Given the description of an element on the screen output the (x, y) to click on. 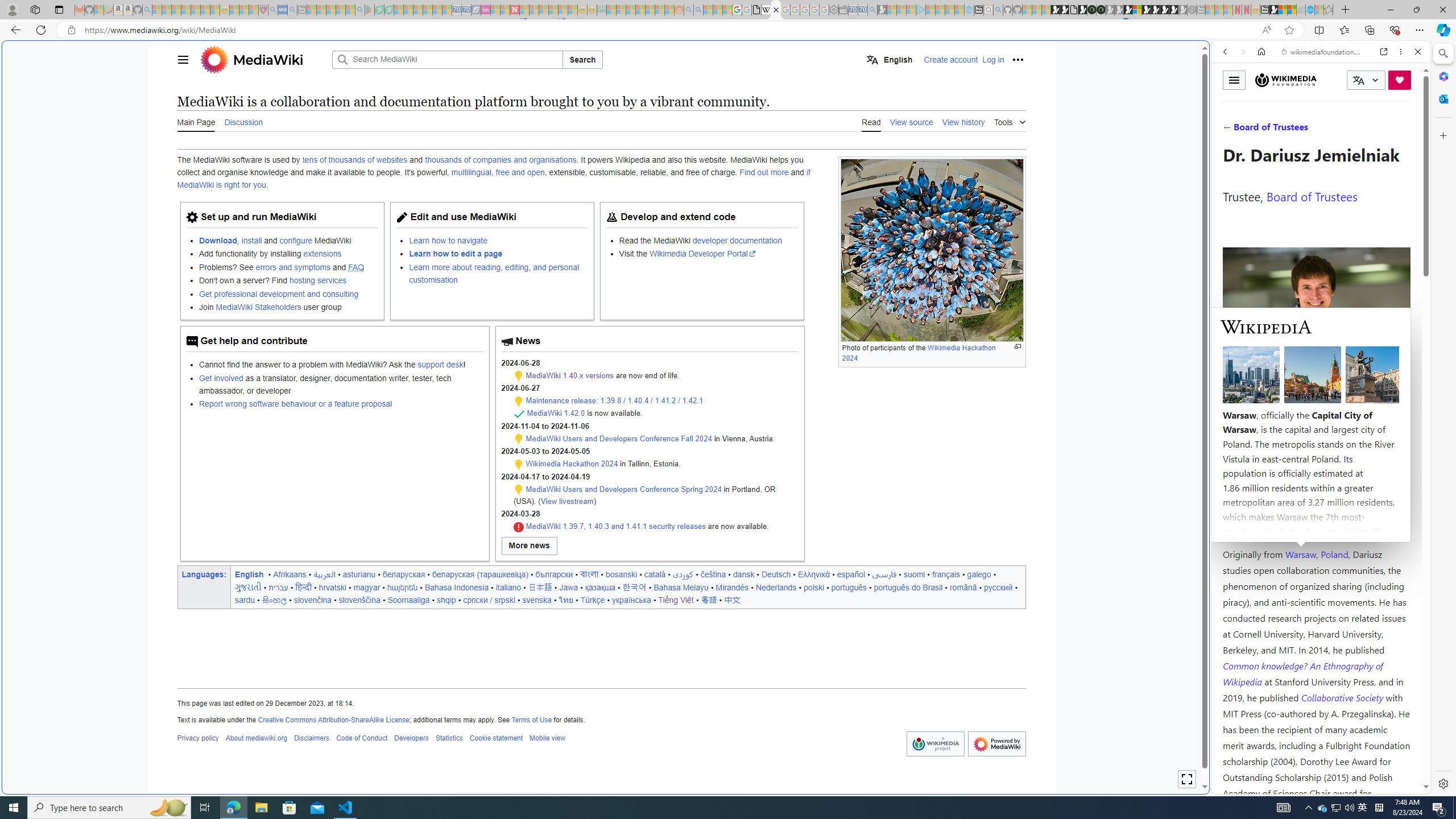
App bar (728, 29)
Latest Politics News & Archive | Newsweek.com - Sleeping (514, 9)
Pets - MSN - Sleeping (340, 9)
MediaWiki 1.39.7, 1.40.3 and 1.41.1 security releases (615, 526)
Release (518, 413)
English (889, 59)
Mobile view (546, 738)
Main menu (182, 59)
